Given the description of an element on the screen output the (x, y) to click on. 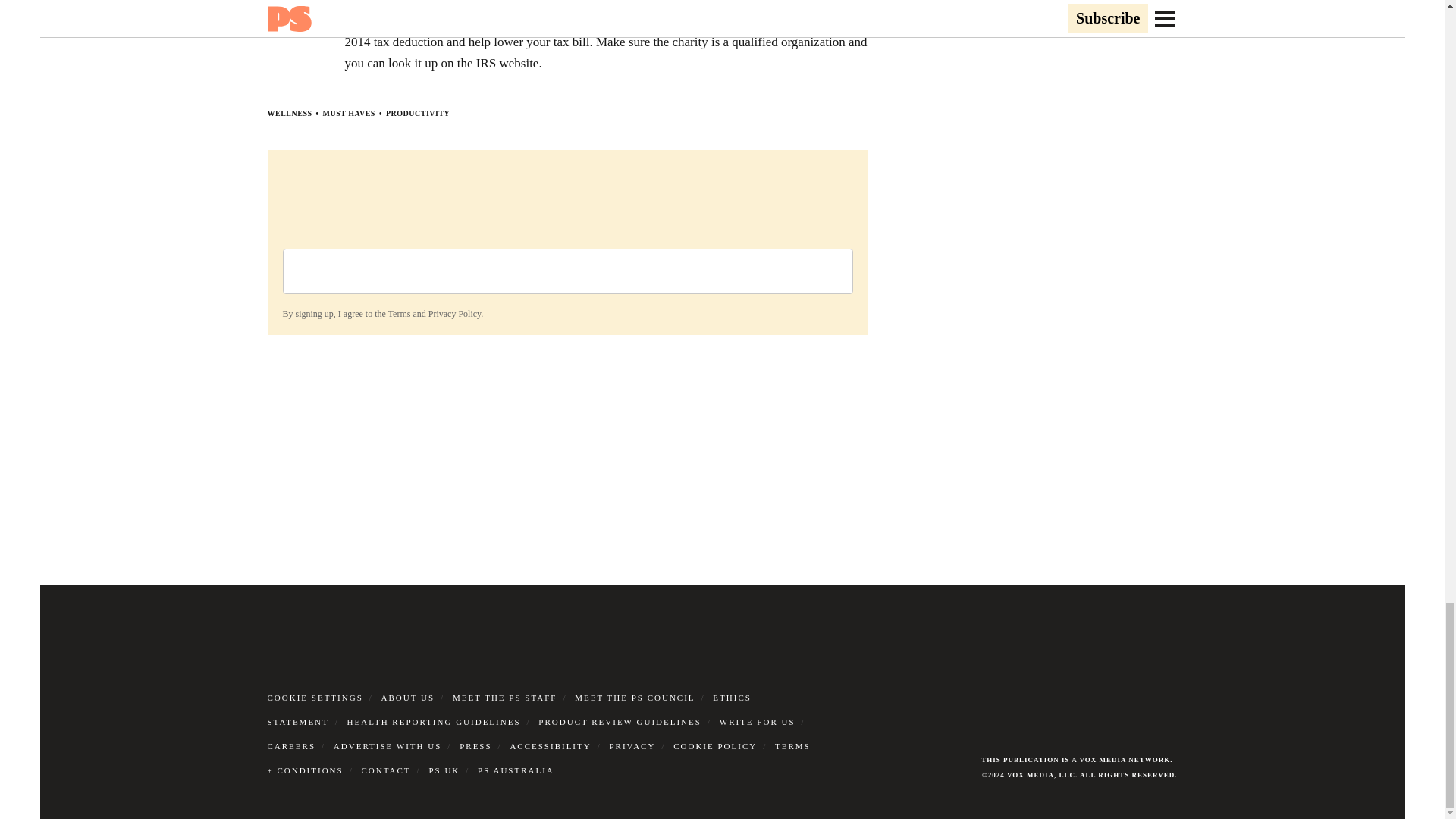
WRITE FOR US (756, 721)
WELLNESS (288, 112)
ABOUT US (408, 697)
PRIVACY (633, 746)
HEALTH REPORTING GUIDELINES (434, 721)
PRODUCT REVIEW GUIDELINES (619, 721)
COOKIE POLICY (714, 746)
PRODUCTIVITY (417, 112)
ADVERTISE WITH US (387, 746)
PRESS (476, 746)
